Given the description of an element on the screen output the (x, y) to click on. 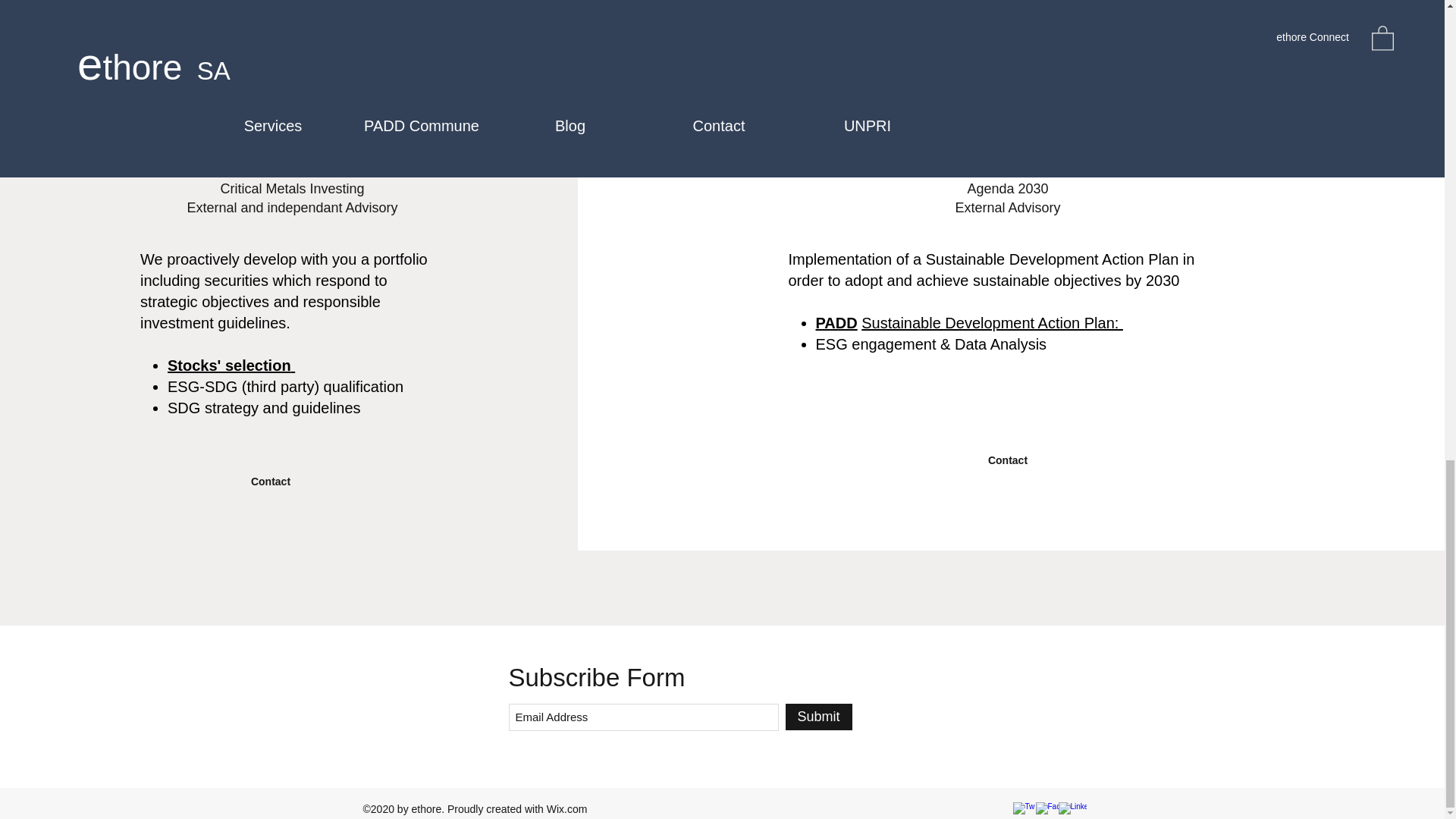
Stocks' selection  (231, 365)
Contact (270, 481)
Submit (818, 716)
Contact (1008, 460)
Sustainable Development Action Plan:  (991, 322)
PADD (836, 322)
